Given the description of an element on the screen output the (x, y) to click on. 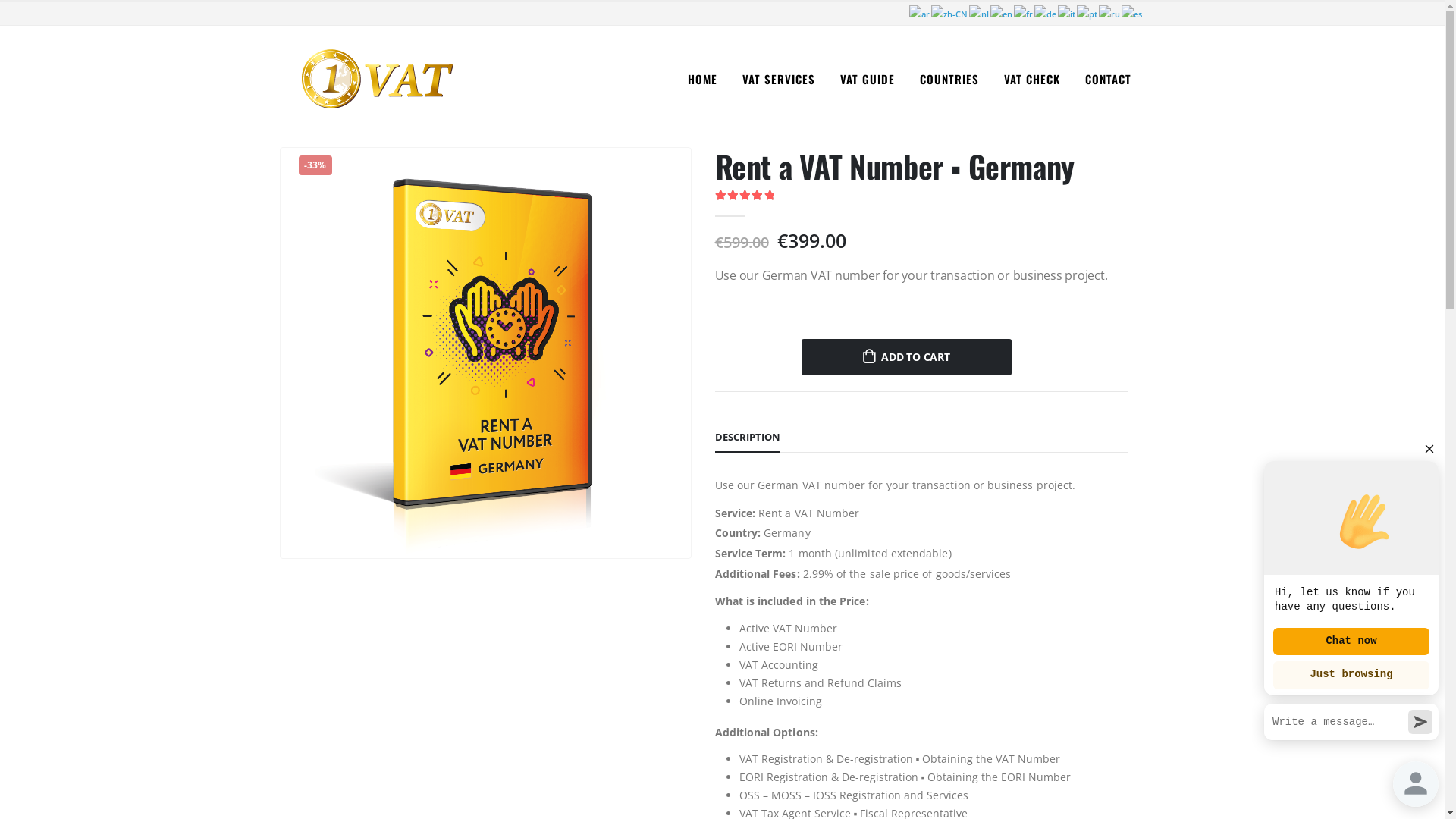
Rent-a-VAT-Number_DE_1 Element type: hover (485, 352)
- Element type: text (726, 349)
Portuguese Element type: hover (1087, 12)
Russian Element type: hover (1109, 12)
CONTACT Element type: text (1107, 78)
Arabic Element type: hover (919, 12)
+ Element type: text (781, 349)
VAT CHECK Element type: text (1031, 78)
English Element type: hover (1001, 12)
Spanish Element type: hover (1131, 12)
Chinese (Simplified) Element type: hover (950, 12)
COUNTRIES Element type: text (948, 78)
VAT GUIDE Element type: text (867, 78)
Dutch Element type: hover (979, 12)
German Element type: hover (1045, 12)
VAT SERVICES Element type: text (777, 78)
Italian Element type: hover (1066, 12)
HOME Element type: text (701, 78)
French Element type: hover (1023, 12)
ADD TO CART Element type: text (905, 356)
